Given the description of an element on the screen output the (x, y) to click on. 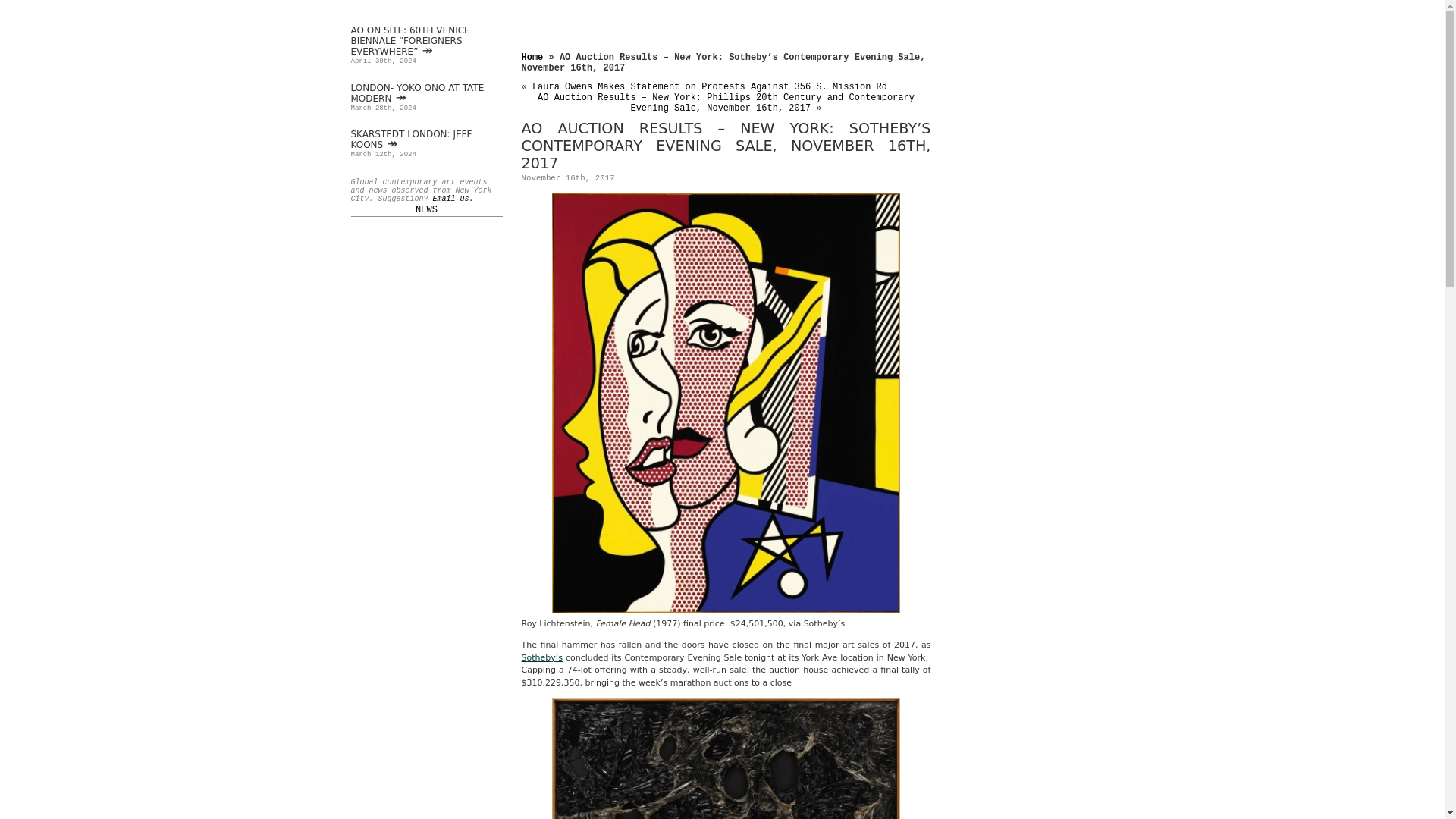
Permanent Link to London- Yoko Ono at Tate Modern (416, 92)
Email us. (453, 198)
Sotheby's - Art Observed (541, 657)
Permanent Link to Skarstedt London: Jeff Koons (410, 138)
LONDON- YOKO ONO AT TATE MODERN (416, 92)
Home (532, 57)
SKARSTEDT LONDON: JEFF KOONS (410, 138)
